Given the description of an element on the screen output the (x, y) to click on. 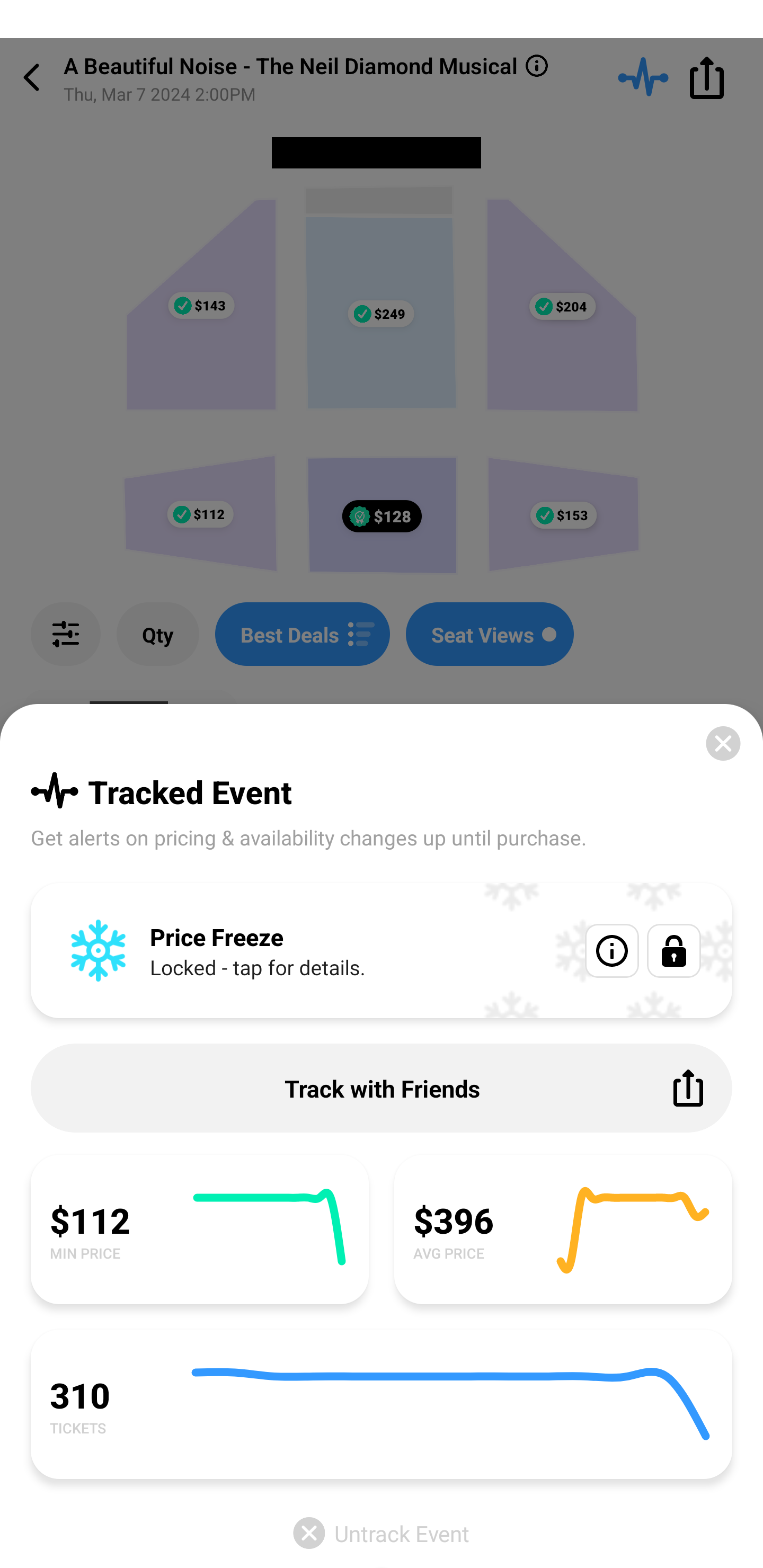
Track with Friends (381, 1088)
Untrack Event (381, 1533)
